Given the description of an element on the screen output the (x, y) to click on. 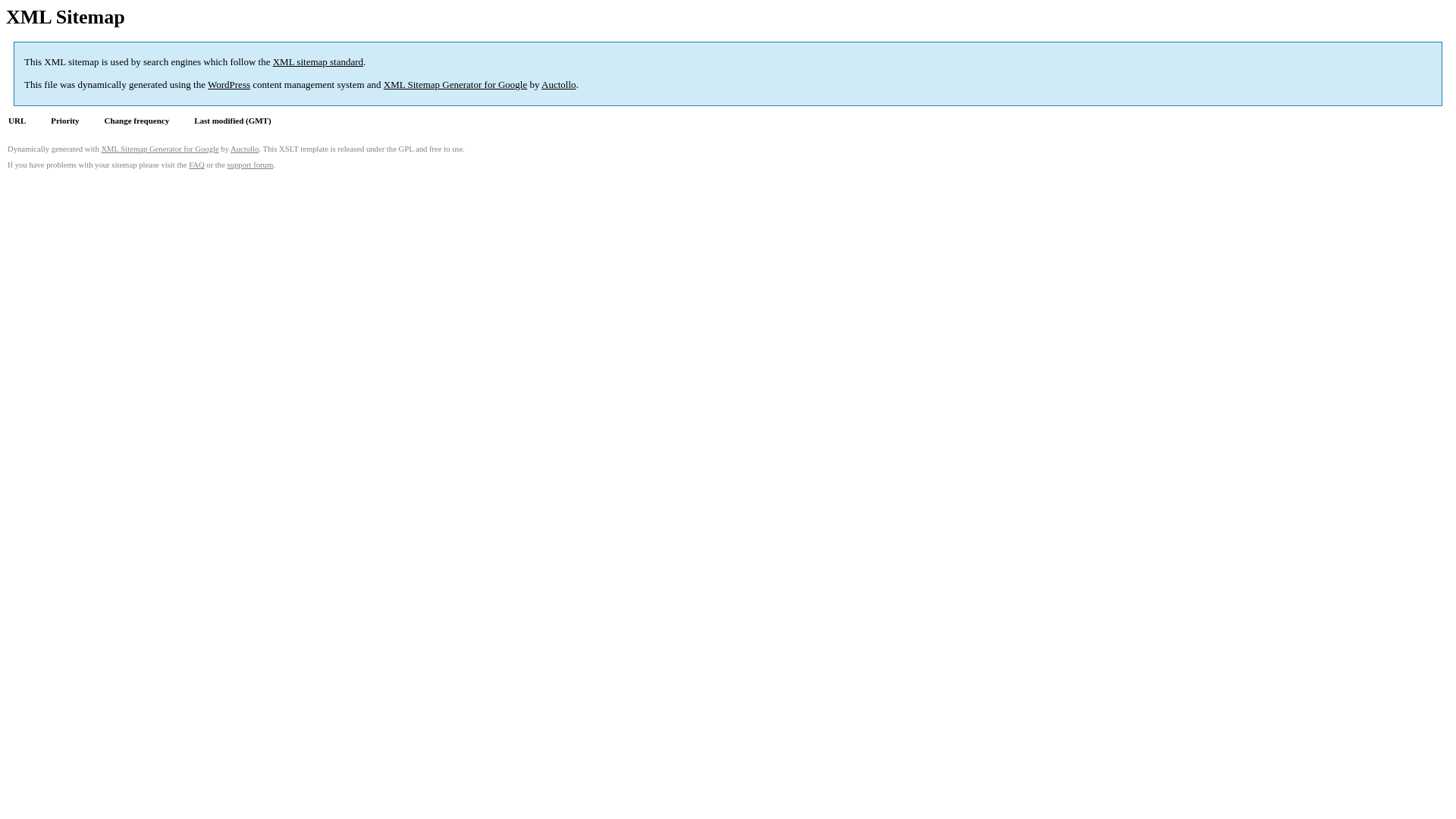
support forum Element type: text (250, 164)
XML Sitemap Generator for Google Element type: text (455, 84)
Auctollo Element type: text (244, 148)
Auctollo Element type: text (558, 84)
XML sitemap standard Element type: text (318, 61)
WordPress Element type: text (228, 84)
FAQ Element type: text (196, 164)
XML Sitemap Generator for Google Element type: text (159, 148)
